Given the description of an element on the screen output the (x, y) to click on. 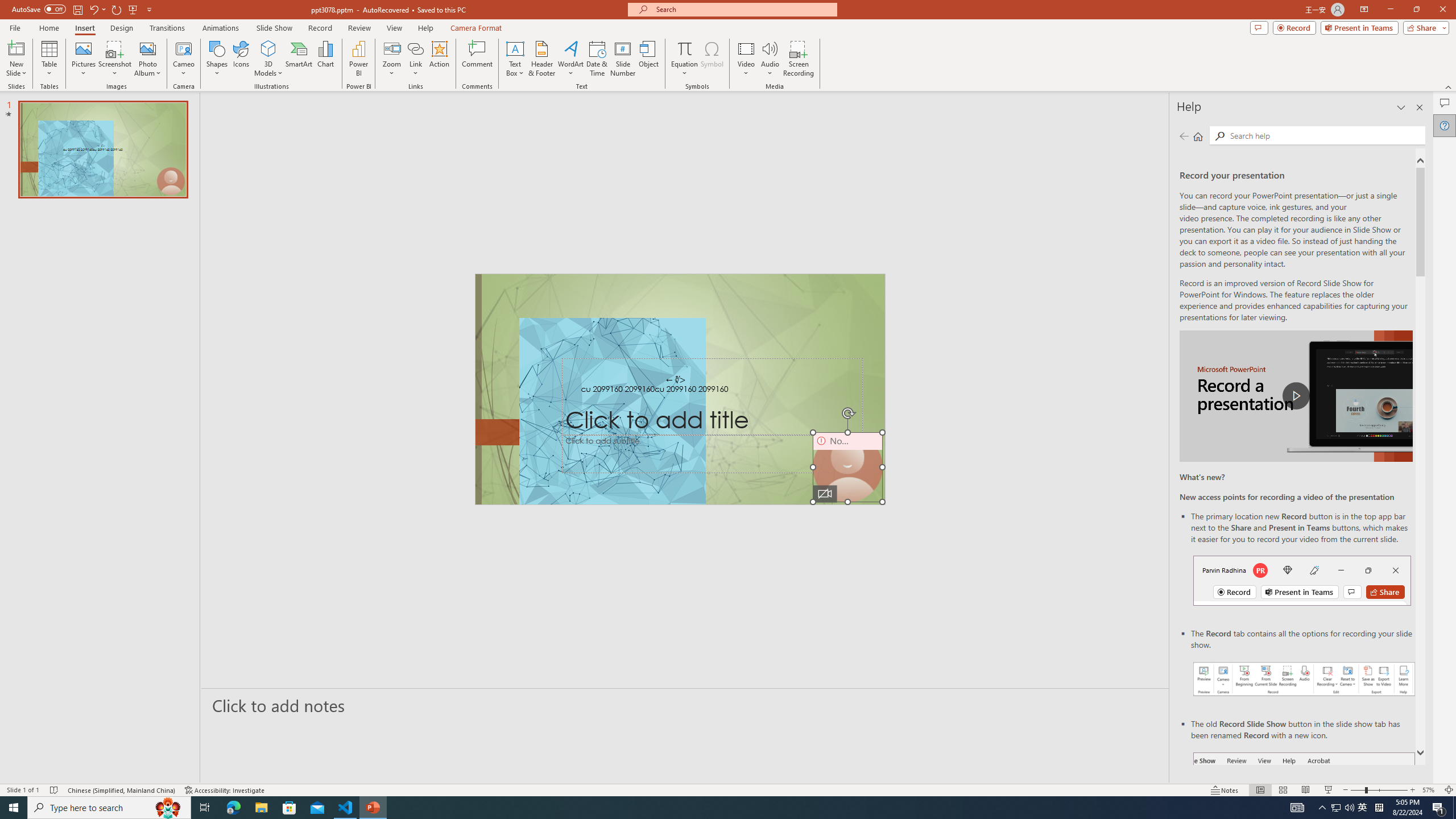
Screenshot (114, 58)
Symbol... (711, 58)
Comment (476, 58)
Photo Album... (147, 58)
Table (49, 58)
Chart... (325, 58)
